Given the description of an element on the screen output the (x, y) to click on. 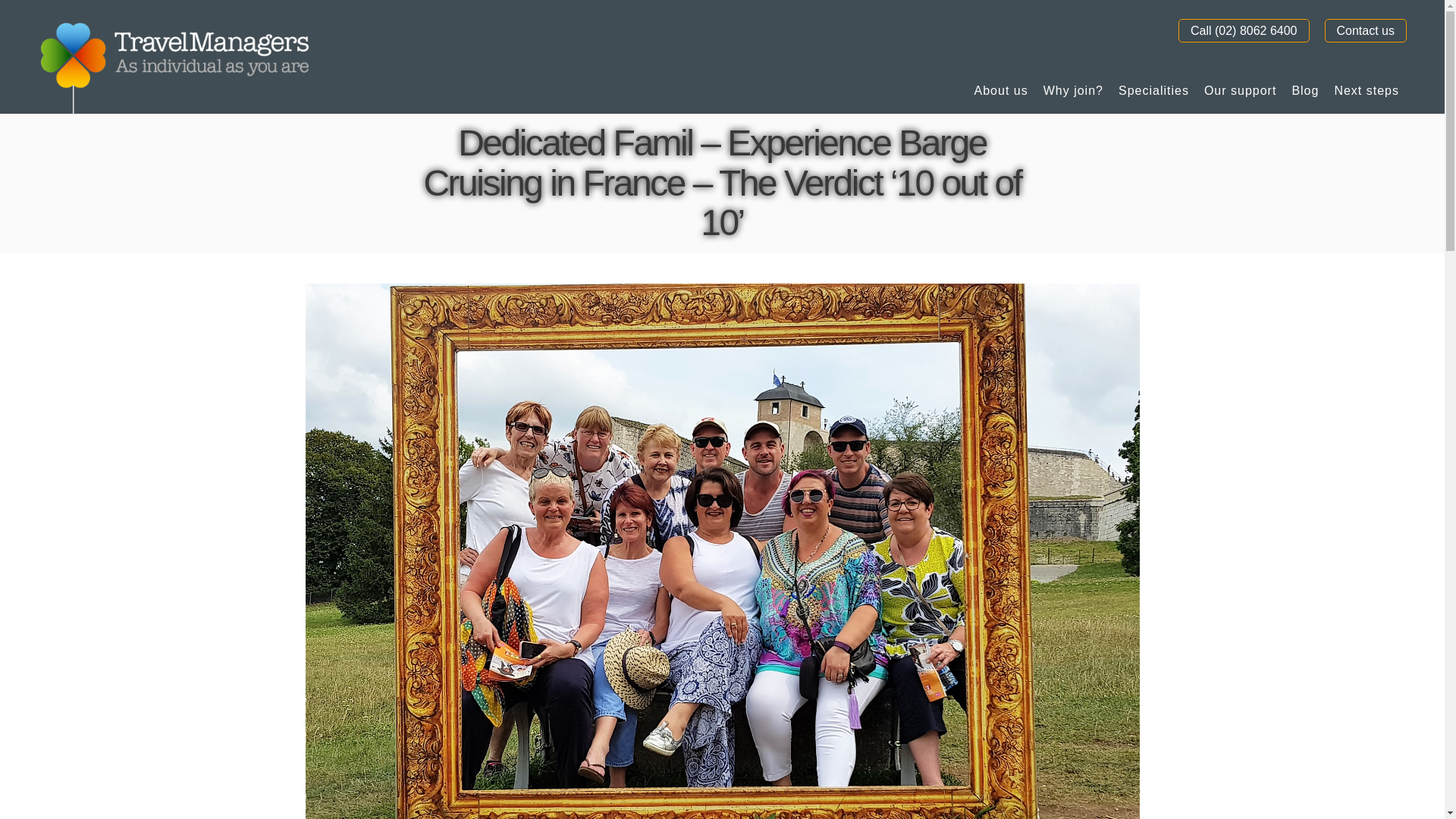
Contact us (1365, 30)
